Given the description of an element on the screen output the (x, y) to click on. 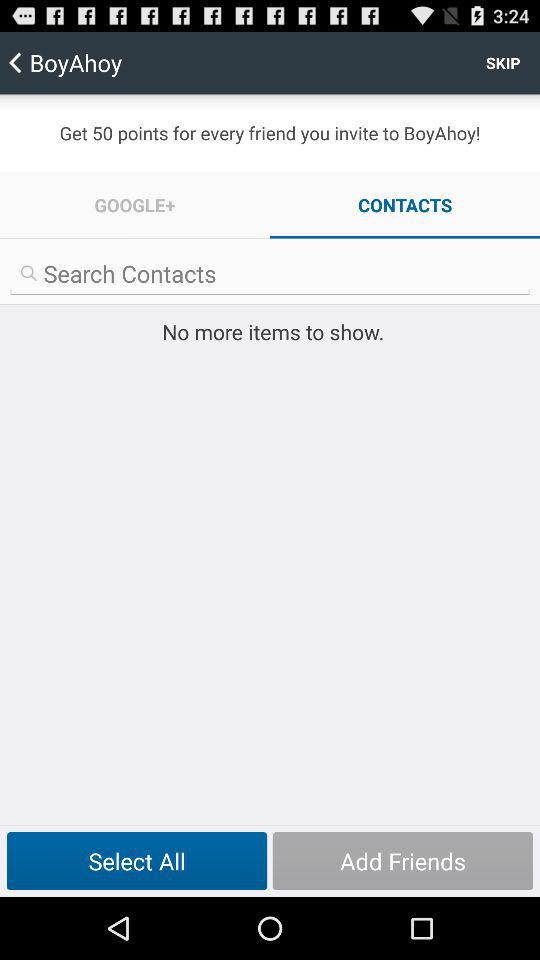
flip to the select all icon (136, 861)
